Given the description of an element on the screen output the (x, y) to click on. 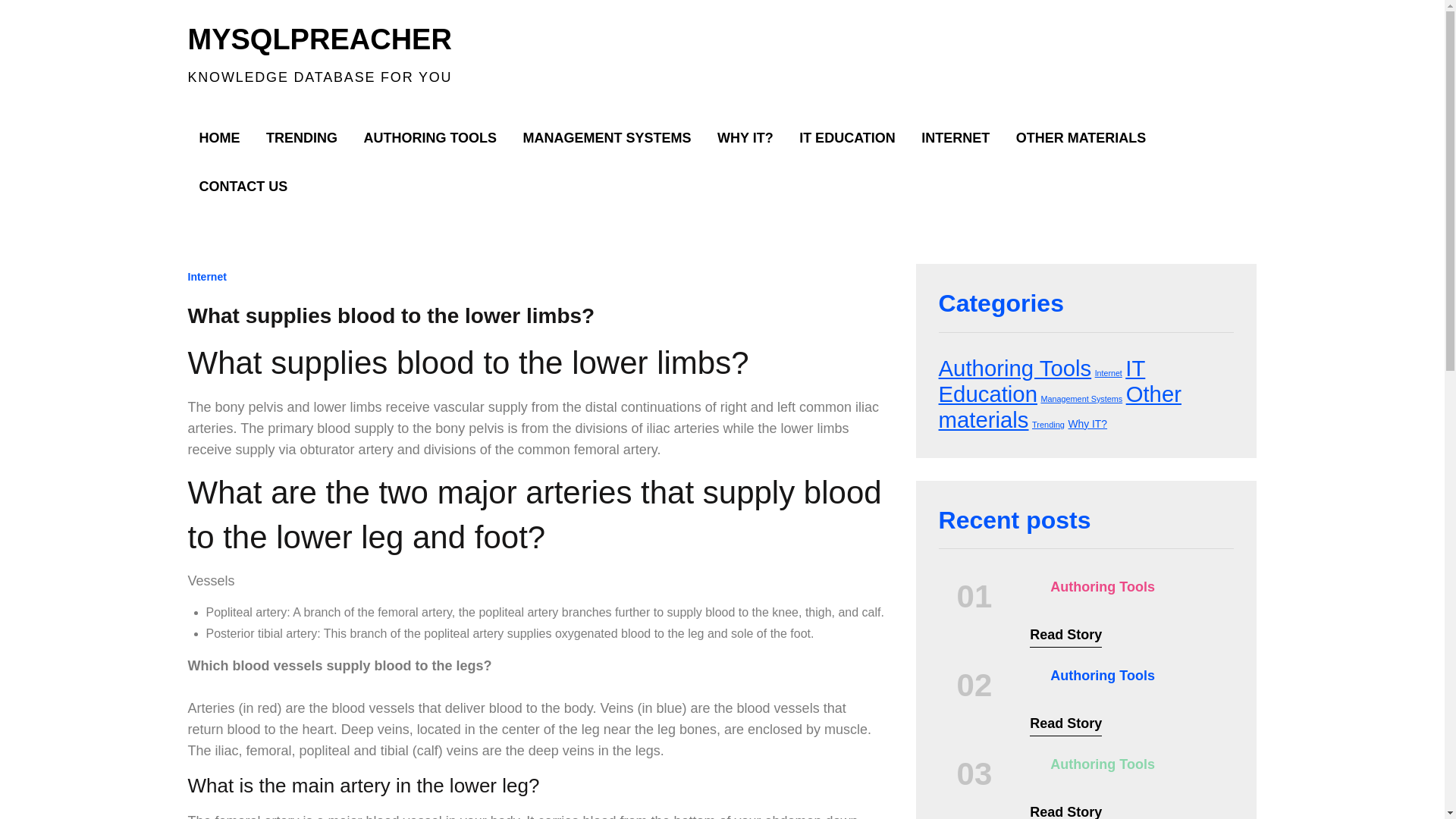
Read Story (1065, 637)
WHY IT? (745, 137)
MANAGEMENT SYSTEMS (607, 137)
Internet (1108, 372)
Why IT? (1086, 423)
IT EDUCATION (847, 137)
Internet (207, 276)
IT Education (1042, 380)
AUTHORING TOOLS (430, 137)
Trending (1048, 424)
